Given the description of an element on the screen output the (x, y) to click on. 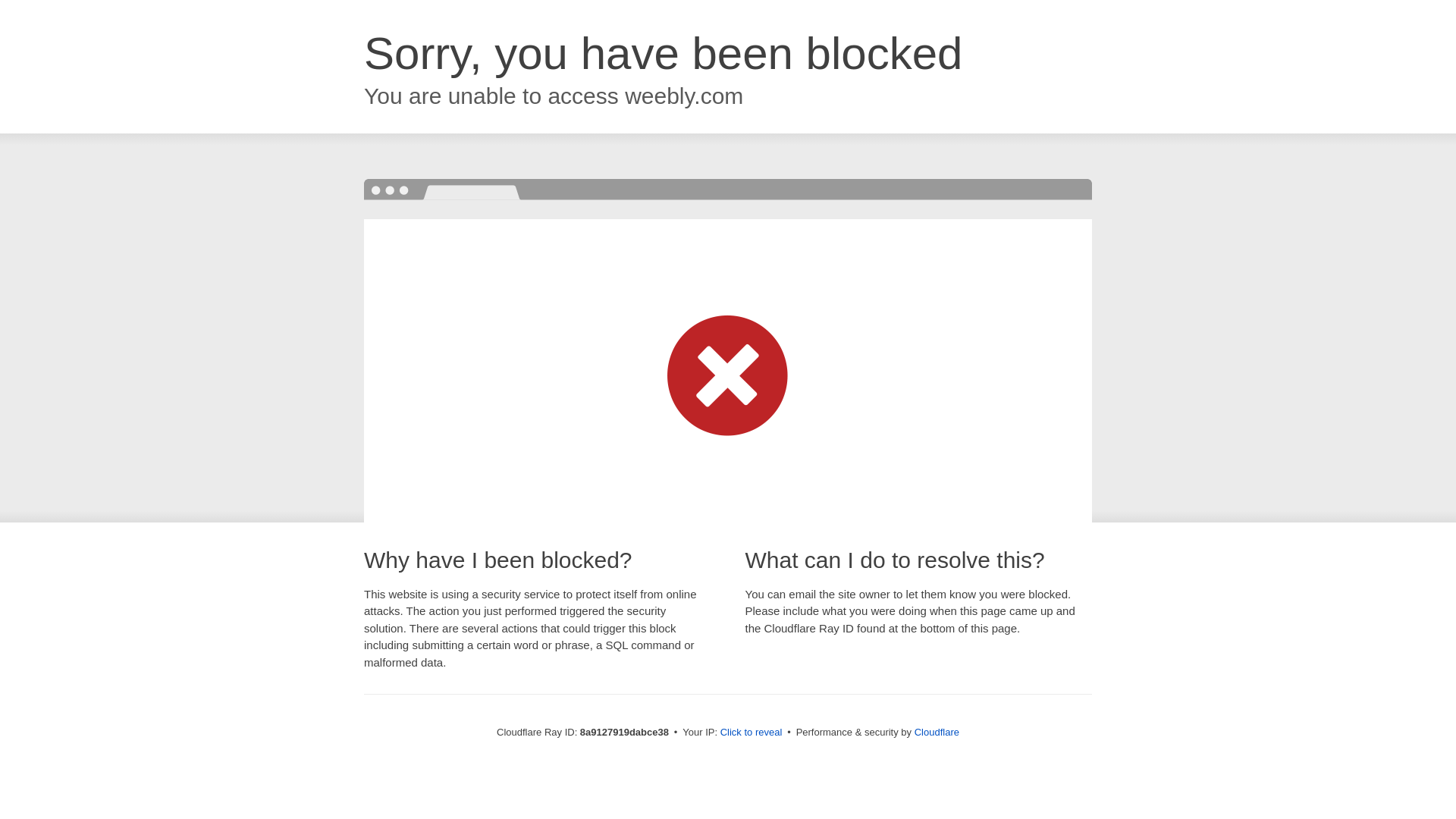
Click to reveal (751, 732)
Cloudflare (936, 731)
